Given the description of an element on the screen output the (x, y) to click on. 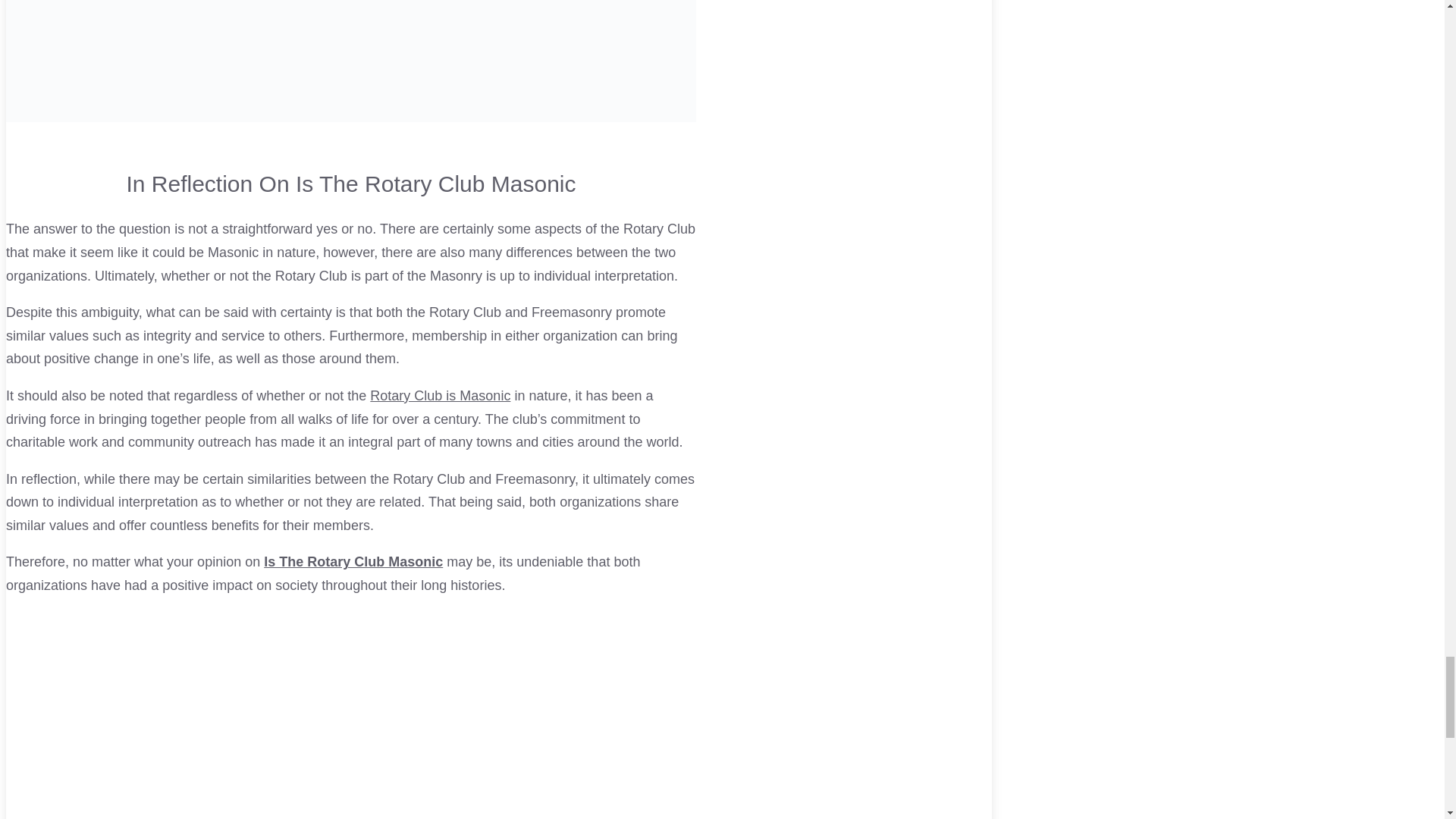
Rotary Club is Masonic (440, 395)
Is The Rotary Club Masonic (352, 561)
Rotary Club Masonic (440, 395)
